Given the description of an element on the screen output the (x, y) to click on. 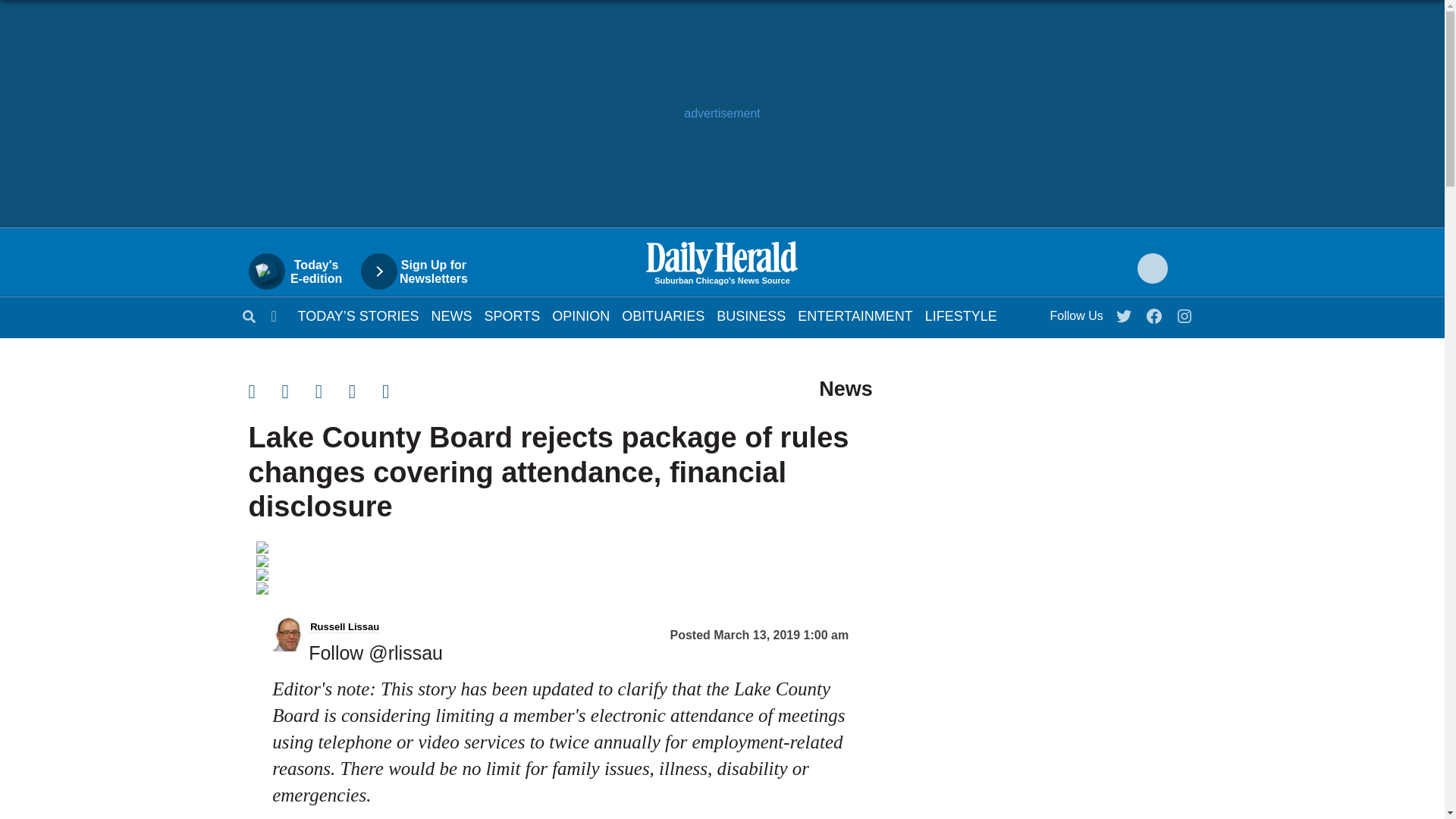
BUSINESS (751, 315)
Sign Up for Newsletters (421, 271)
NEWS (450, 315)
Business (751, 315)
OPINION (580, 315)
Entertainment (854, 315)
ENTERTAINMENT (854, 315)
Share via Email (332, 391)
LIFESTYLE (960, 315)
OBITUARIES (662, 315)
